Given the description of an element on the screen output the (x, y) to click on. 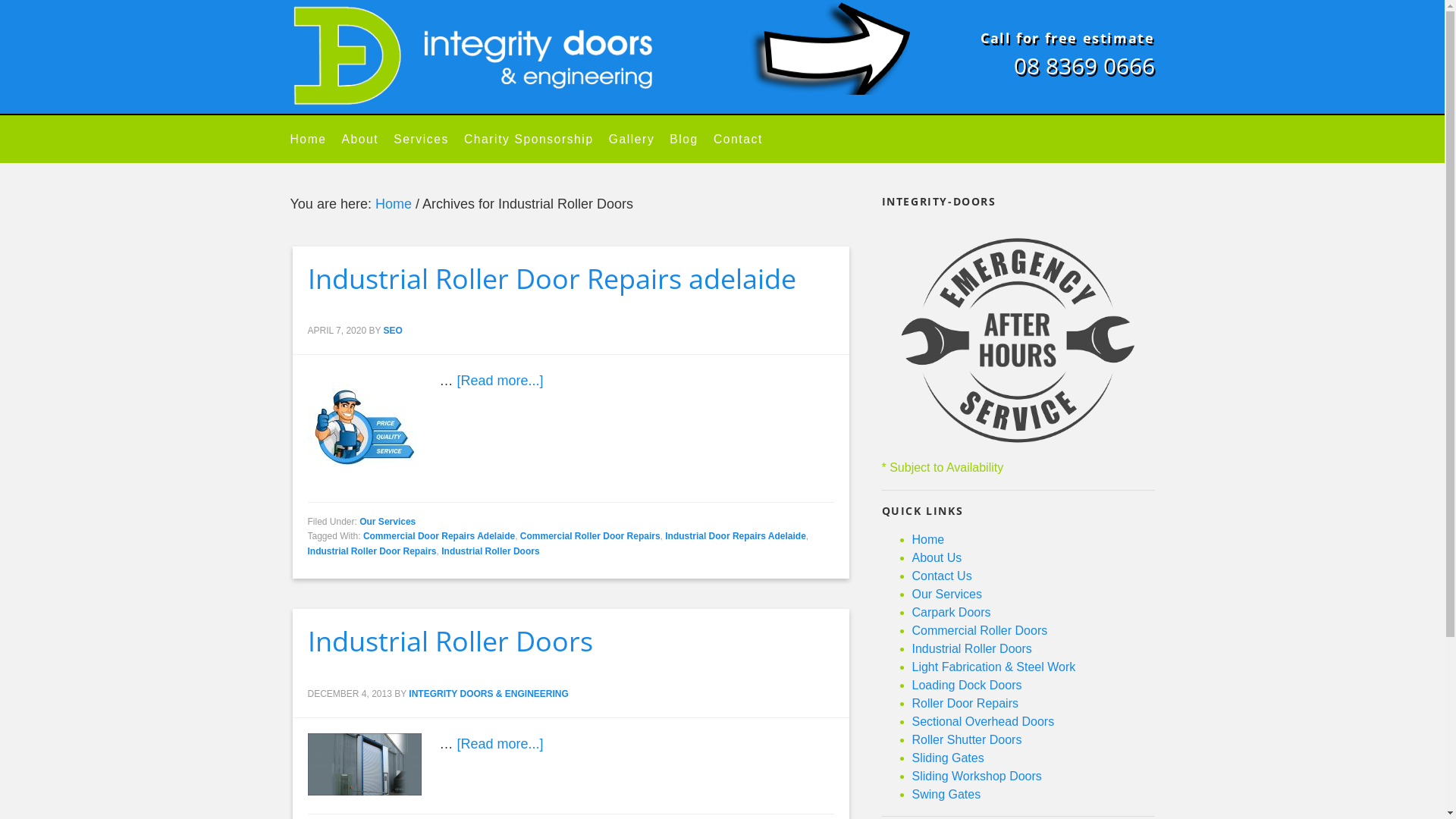
Sliding Gates Element type: text (947, 757)
Our Services Element type: text (387, 521)
[Read more...] Element type: text (500, 743)
Sectional Overhead Doors Element type: text (982, 721)
Industrial Roller Door Repairs Element type: text (371, 551)
Industrial Roller Doors Element type: text (450, 640)
SEO Element type: text (392, 330)
Our Services Element type: text (946, 593)
integrity-doors Element type: hover (1017, 339)
Carpark Doors Element type: text (950, 611)
Industrial Roller Doors Element type: text (971, 648)
Sliding Workshop Doors Element type: text (976, 775)
Charity Sponsorship Element type: text (536, 139)
Services Element type: text (428, 139)
Loading Dock Doors Element type: text (966, 684)
[Read more...] Element type: text (500, 380)
Industrial Roller Door Repairs adelaide Element type: text (551, 278)
Swing Gates Element type: text (945, 793)
Industrial Roller Doors Element type: text (490, 551)
Blog Element type: text (691, 139)
Roller Shutter Doors Element type: text (966, 739)
Industrial Door Repairs Adelaide Element type: text (735, 535)
About Us Element type: text (936, 557)
Contact Us Element type: text (941, 575)
Commercial Roller Door Repairs Element type: text (590, 535)
Home Element type: text (393, 203)
Home Element type: text (315, 139)
Commercial Roller Doors Element type: text (979, 630)
Commercial Door Repairs Adelaide Element type: text (438, 535)
Gallery Element type: text (639, 139)
Contact Element type: text (745, 139)
About Element type: text (367, 139)
Roller Door Repairs Element type: text (964, 702)
INTEGRITY DOORS & ENGINEERING Element type: text (487, 693)
08 8369 0666 Element type: text (1083, 65)
Integrity Doors and Engineering Element type: text (476, 56)
Light Fabrication & Steel Work Element type: text (993, 666)
Home Element type: text (927, 539)
